Given the description of an element on the screen output the (x, y) to click on. 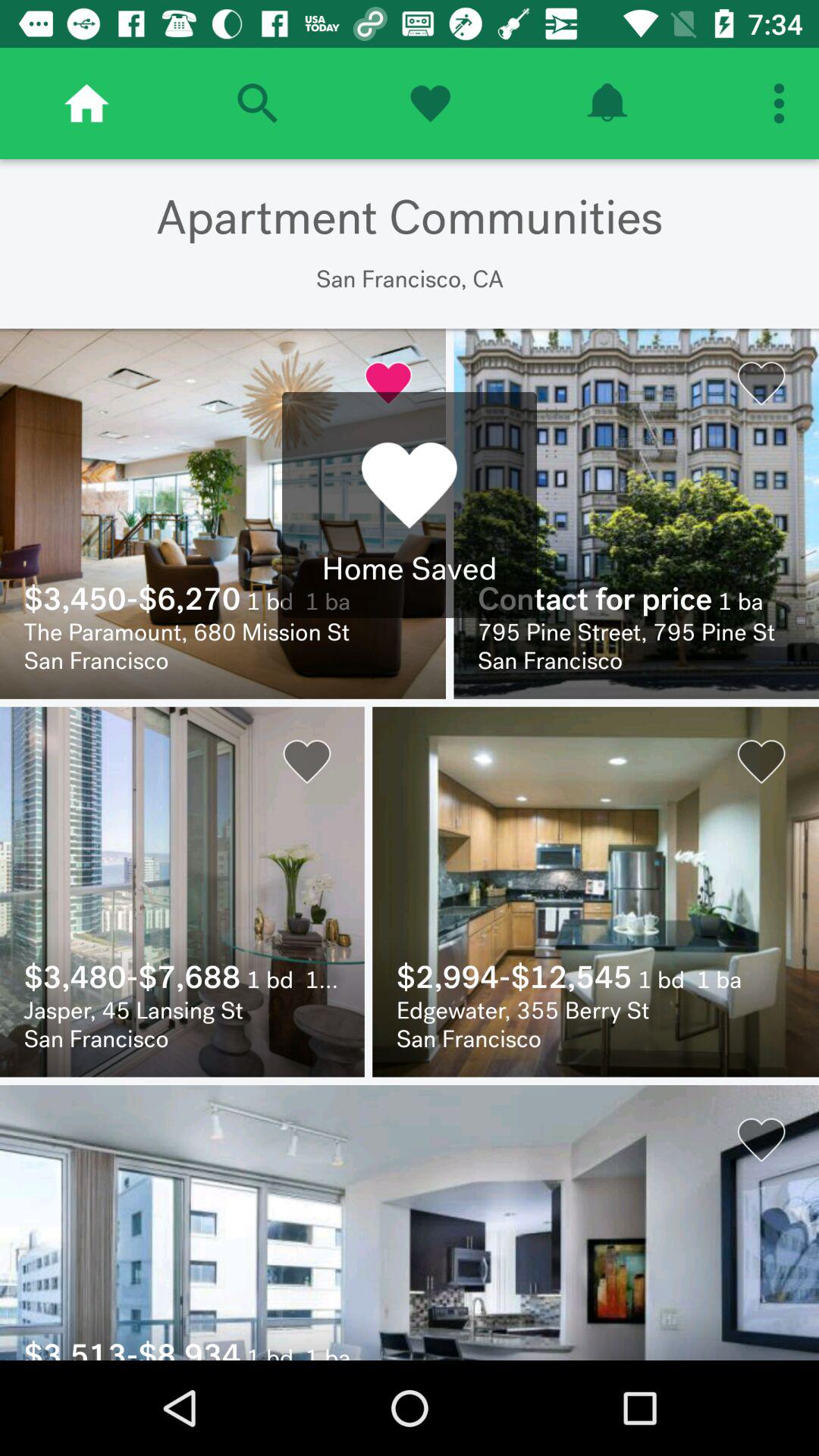
search apartments (257, 103)
